Given the description of an element on the screen output the (x, y) to click on. 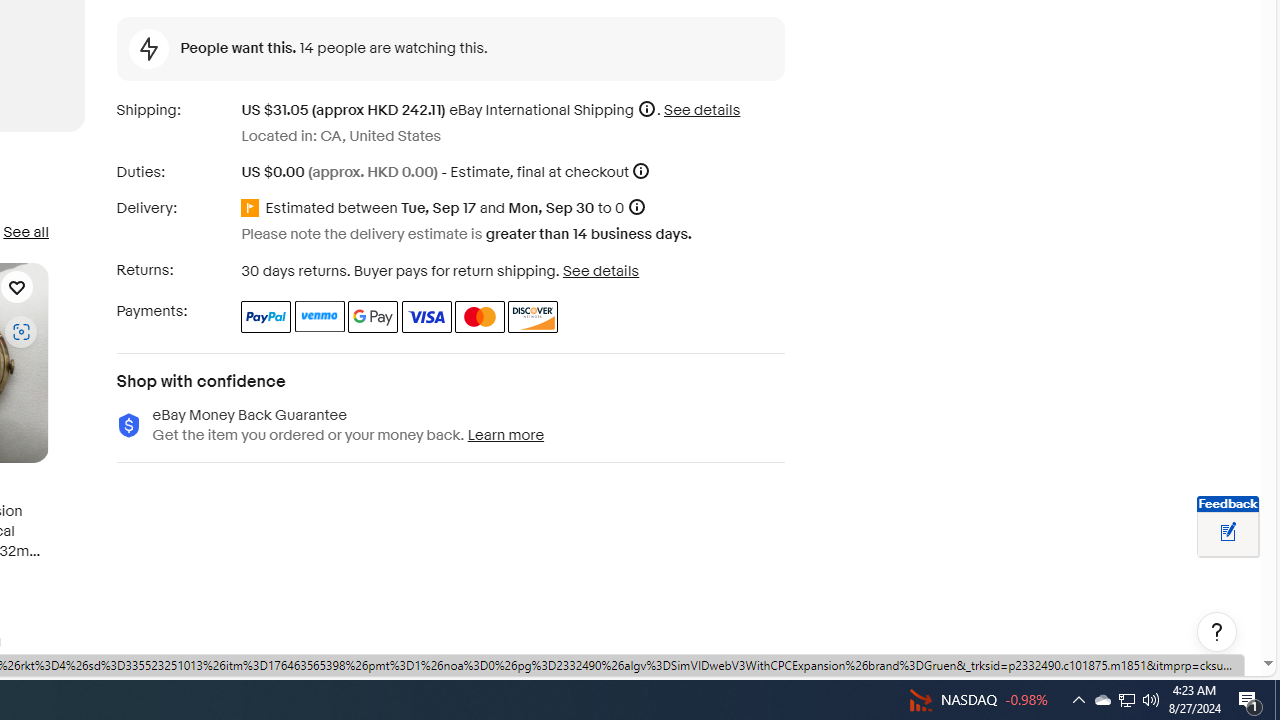
Help, opens dialogs (1217, 632)
See details for shipping (702, 110)
Visa (425, 316)
Google Pay (373, 316)
More information (641, 171)
Discover (533, 316)
See details - for more information about returns (600, 270)
Master Card (479, 316)
Venmo (319, 316)
Leave feedback about your eBay ViewItem experience (1227, 533)
See all (25, 232)
